Given the description of an element on the screen output the (x, y) to click on. 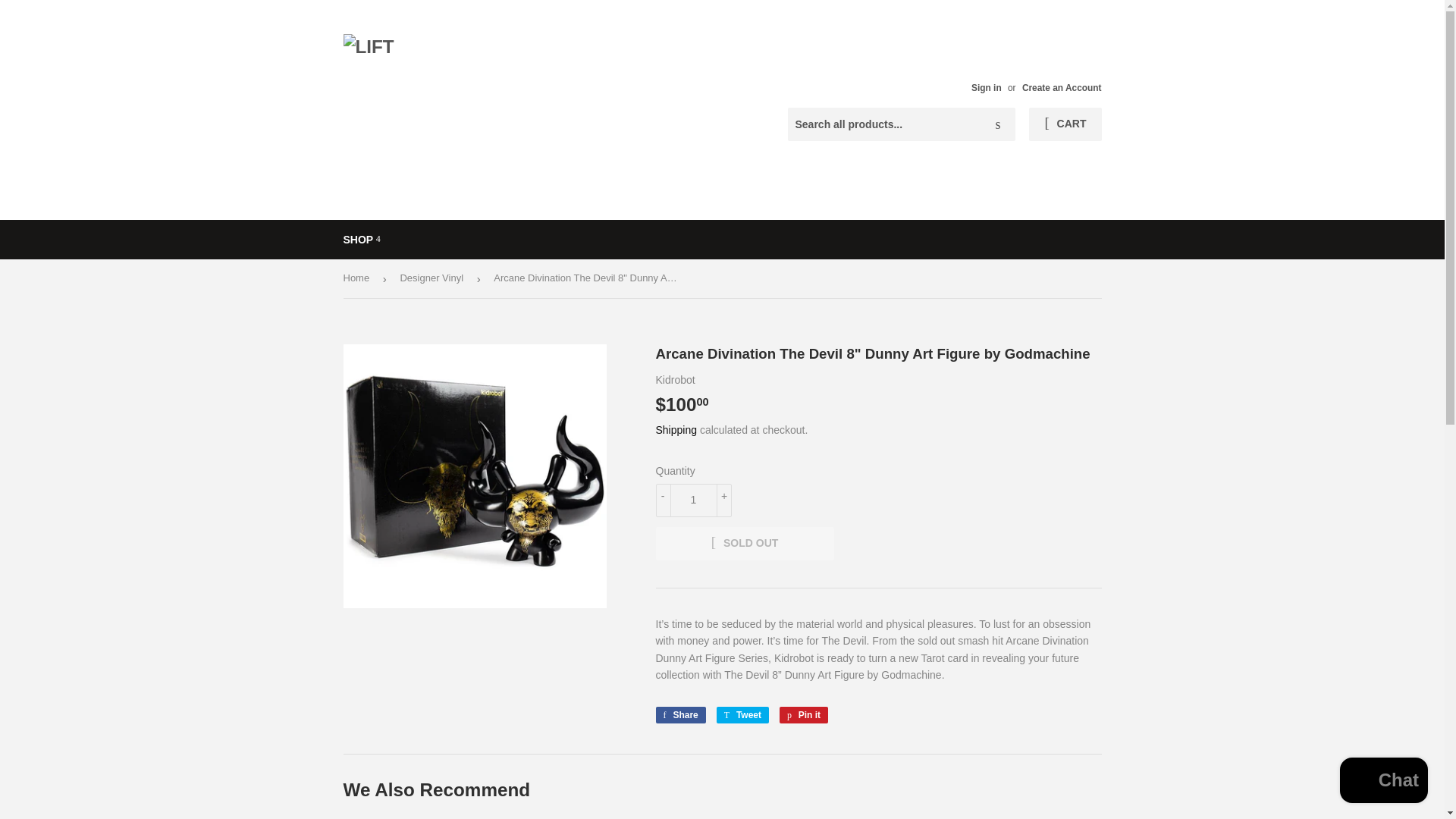
Shipping (676, 429)
Sign in (986, 87)
SHOP (361, 239)
Shopify online store chat (1383, 781)
1 (692, 500)
Search (997, 124)
Tweet on Twitter (742, 714)
Pin on Pinterest (803, 714)
Share on Facebook (679, 714)
Create an Account (1062, 87)
